Given the description of an element on the screen output the (x, y) to click on. 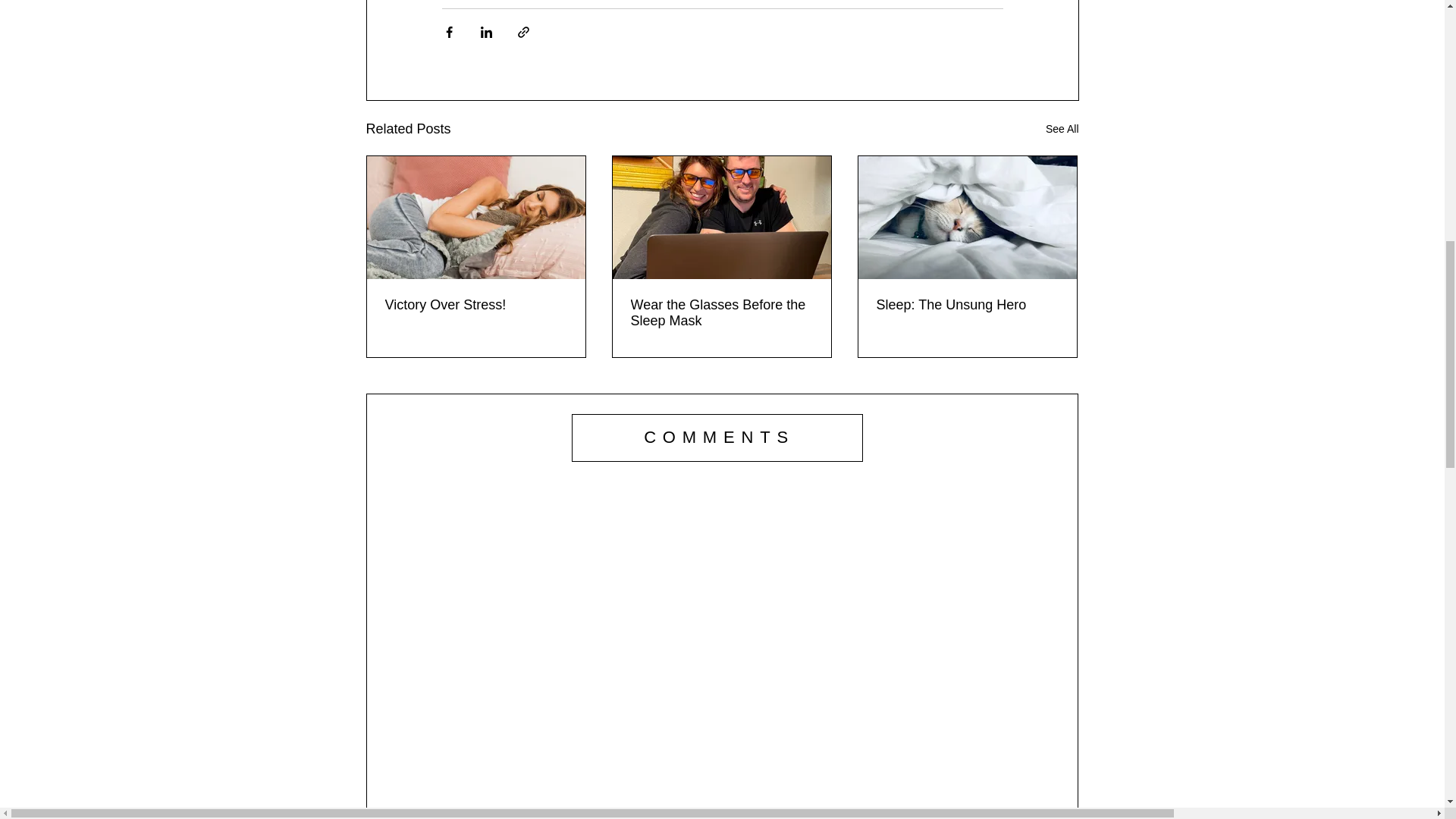
Sleep: The Unsung Hero (967, 304)
Victory Over Stress! (476, 304)
Wear the Glasses Before the Sleep Mask (721, 313)
See All (1061, 128)
